Given the description of an element on the screen output the (x, y) to click on. 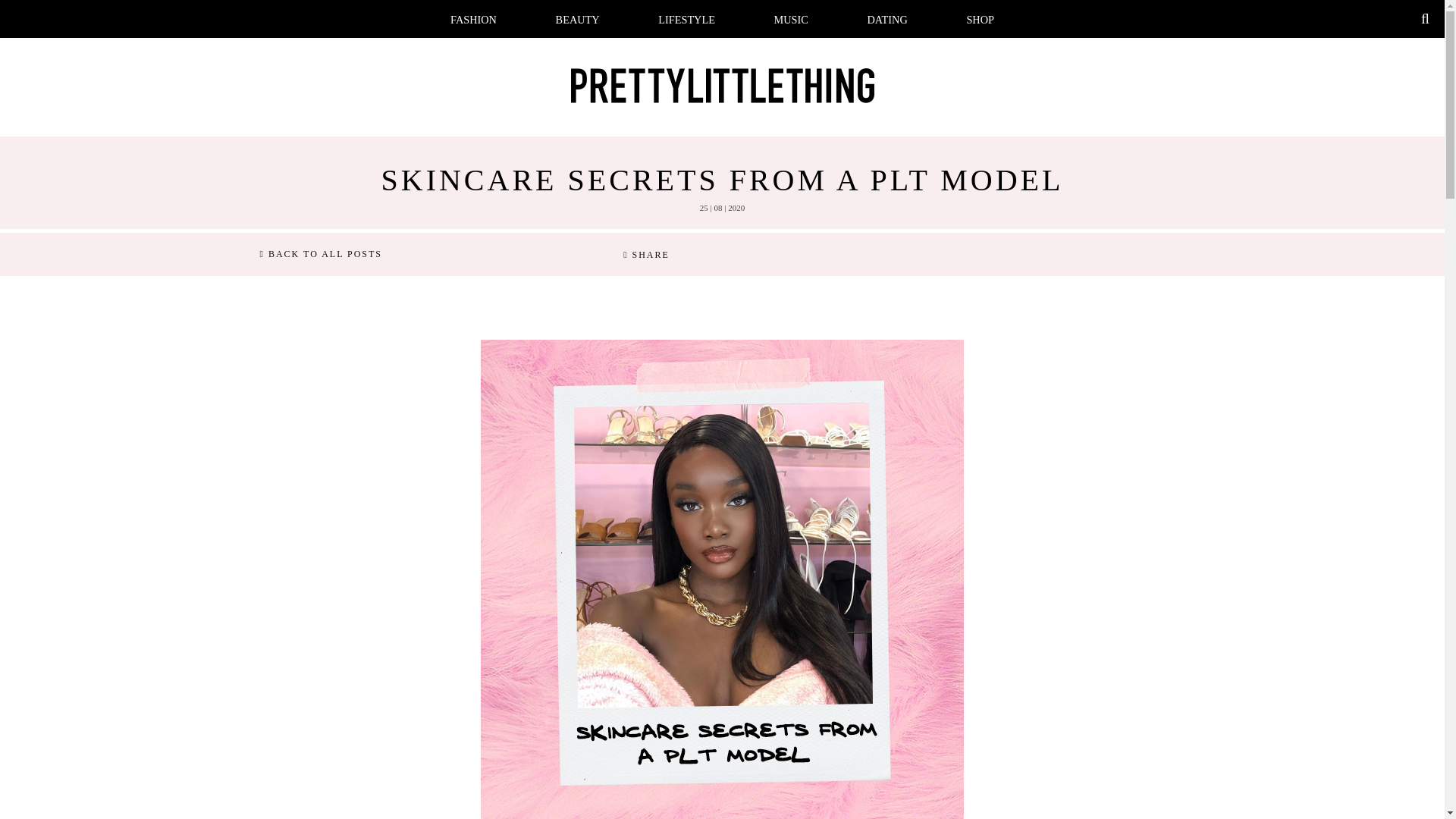
SHOP (980, 19)
BACK TO ALL POSTS (320, 254)
DATING (887, 19)
SHARE (646, 254)
FASHION (472, 19)
MUSIC (791, 19)
BEAUTY (577, 19)
LIFESTYLE (686, 19)
